Given the description of an element on the screen output the (x, y) to click on. 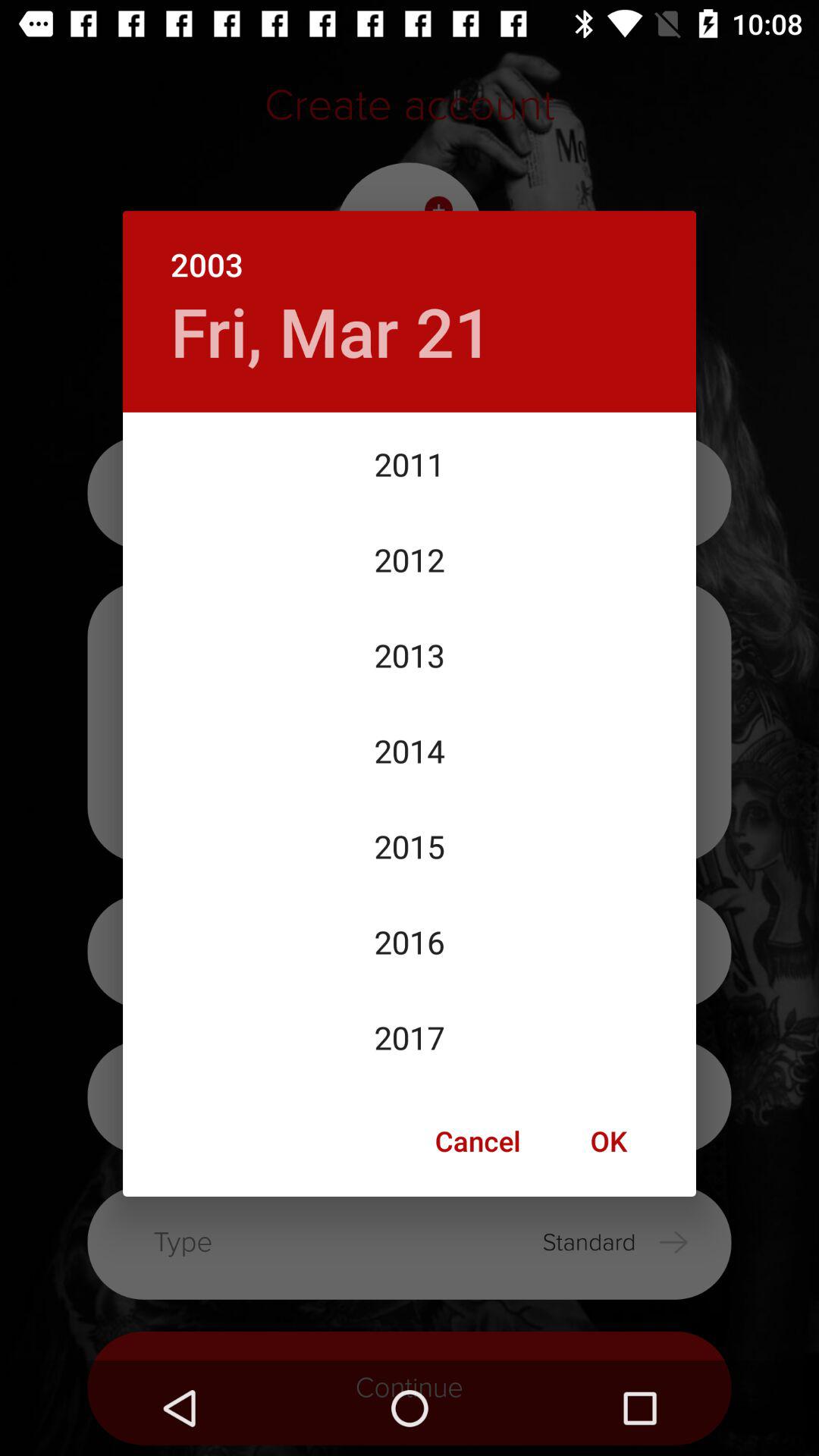
flip to ok item (608, 1140)
